Given the description of an element on the screen output the (x, y) to click on. 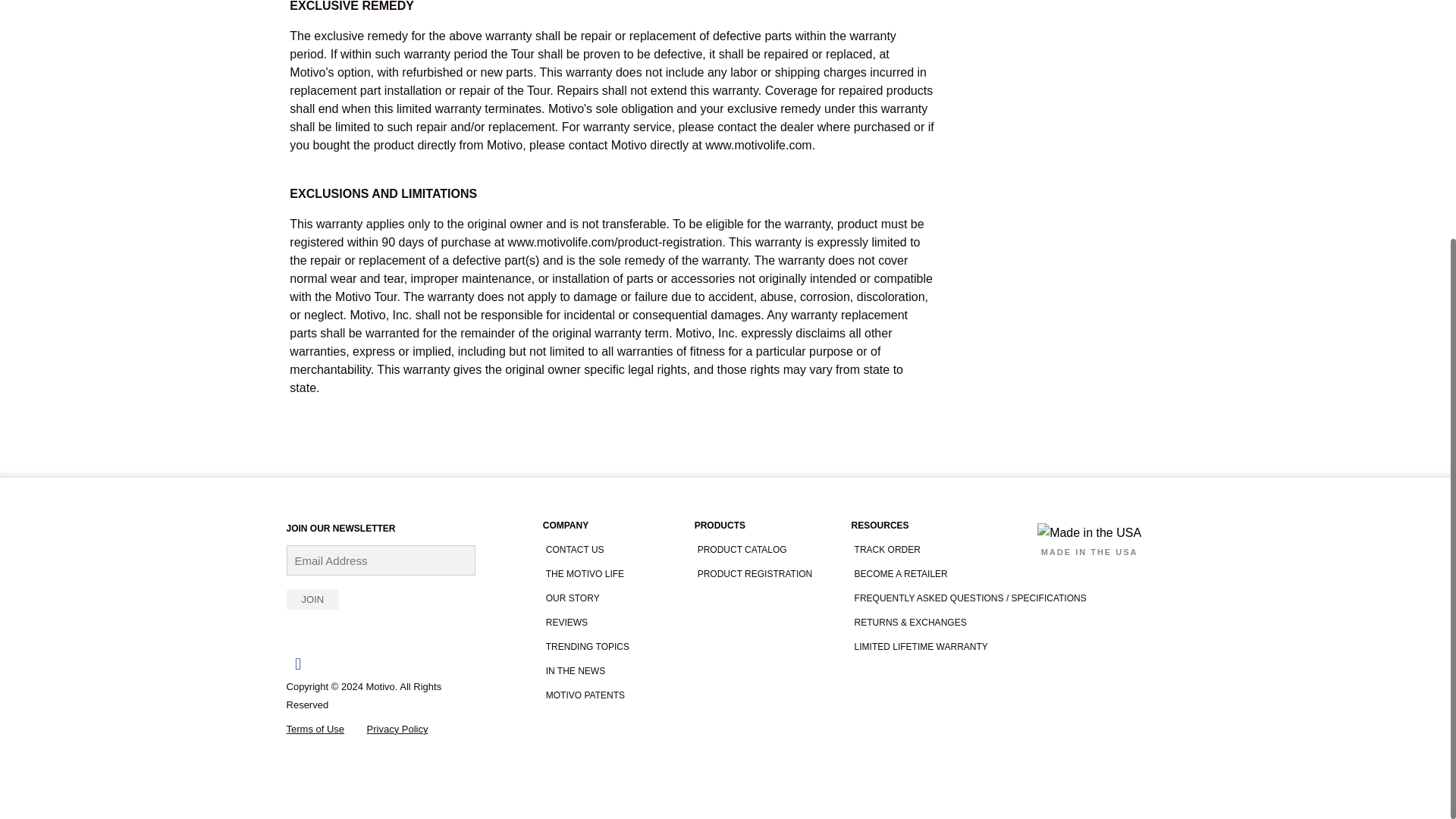
Join (312, 598)
